Given the description of an element on the screen output the (x, y) to click on. 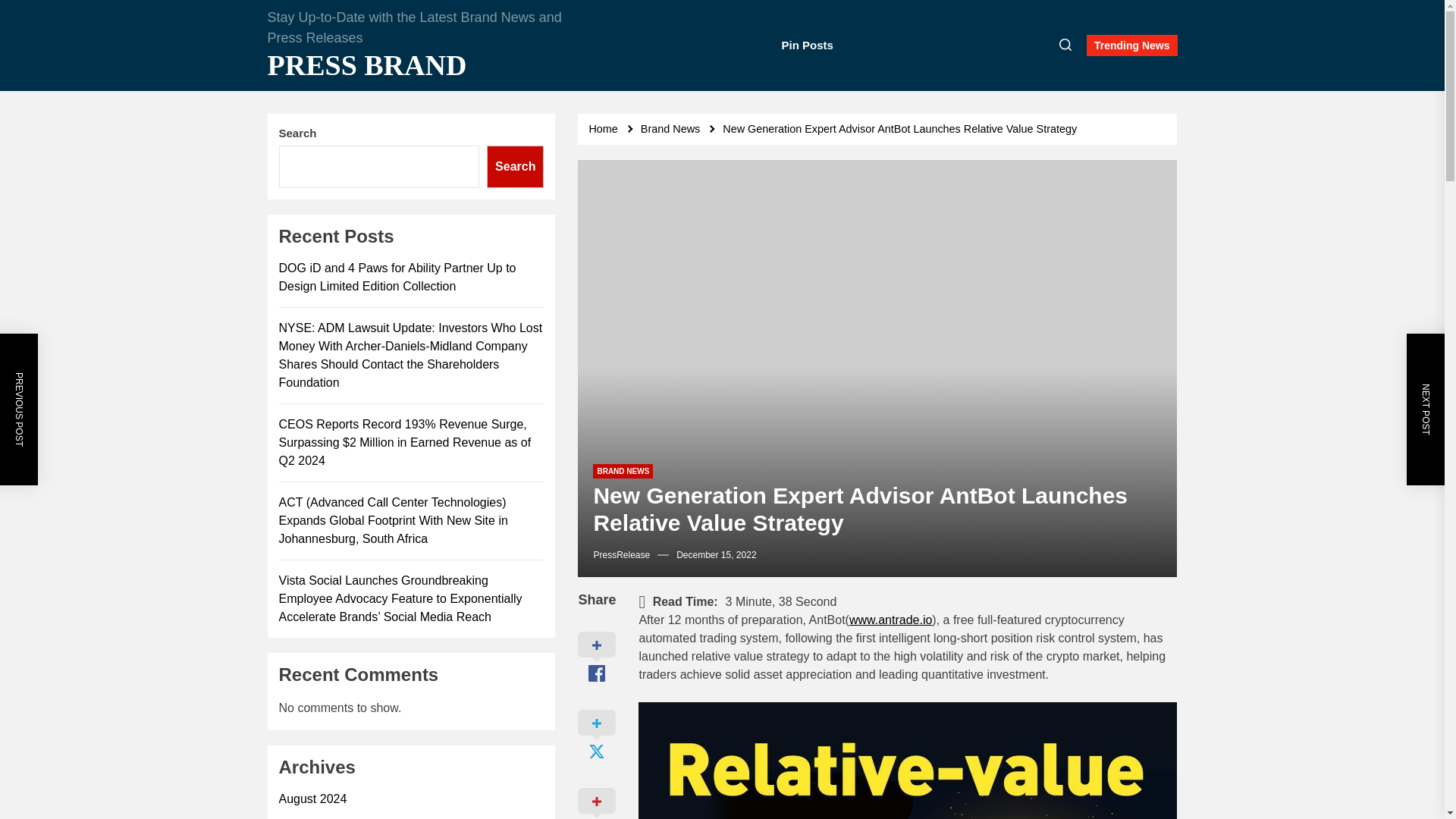
Trending News (1131, 45)
Brand News (672, 128)
BRAND NEWS (622, 471)
PRESS BRAND (418, 65)
Home (605, 128)
Pin Posts (806, 45)
